Given the description of an element on the screen output the (x, y) to click on. 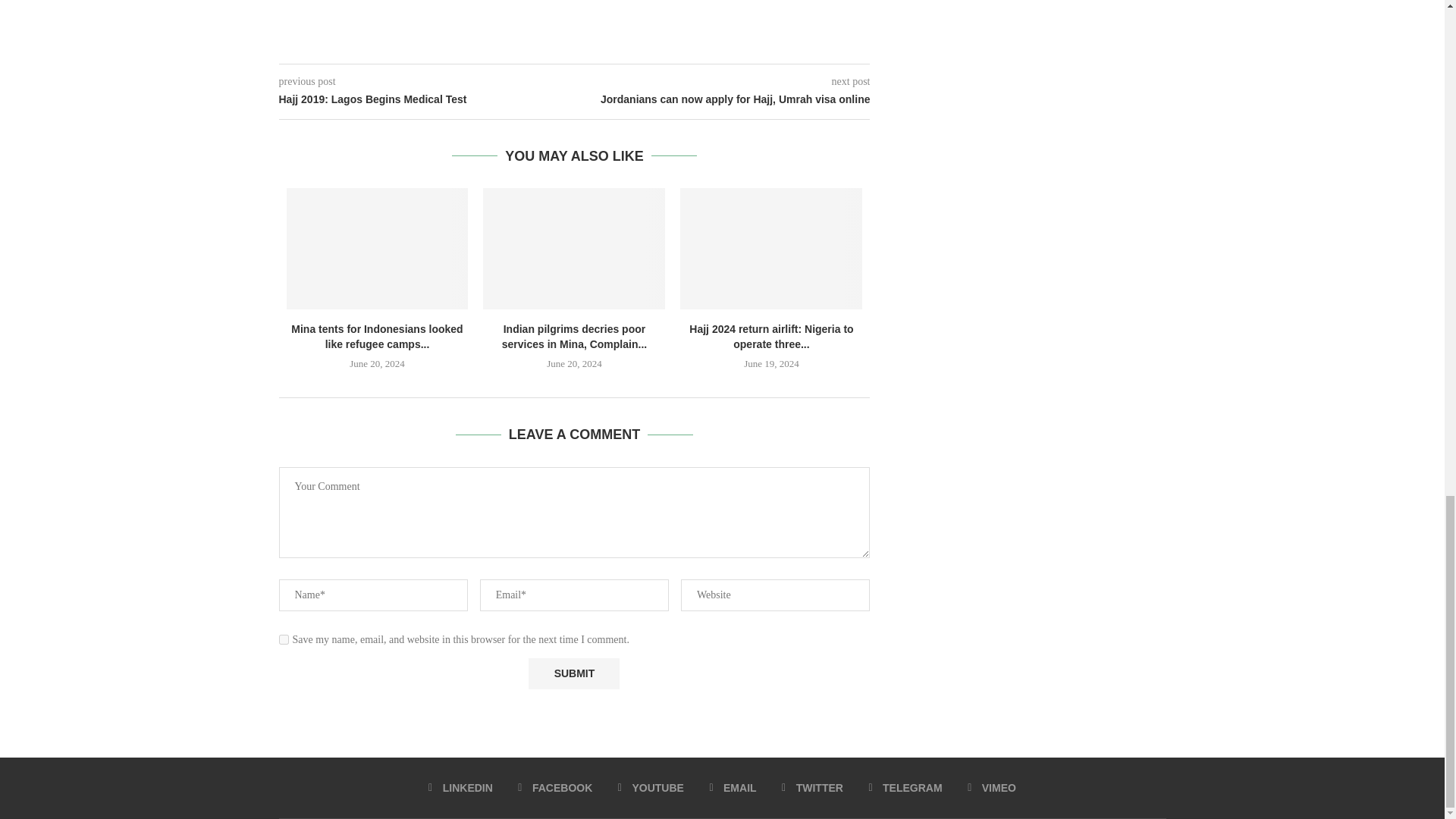
yes (283, 639)
Submit (574, 673)
